Given the description of an element on the screen output the (x, y) to click on. 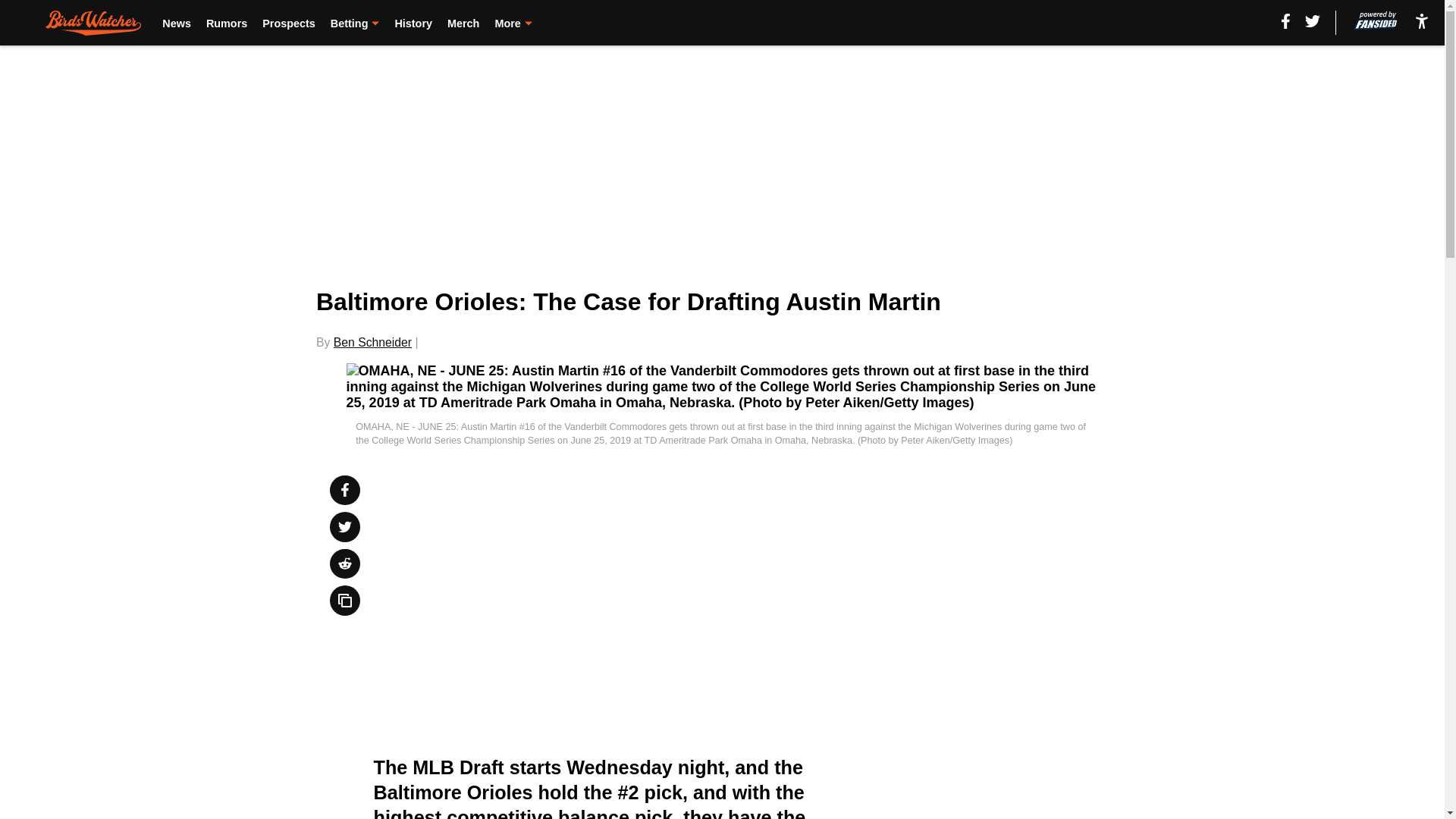
History (413, 23)
Merch (462, 23)
Prospects (288, 23)
Ben Schneider (372, 341)
News (175, 23)
Rumors (226, 23)
